Given the description of an element on the screen output the (x, y) to click on. 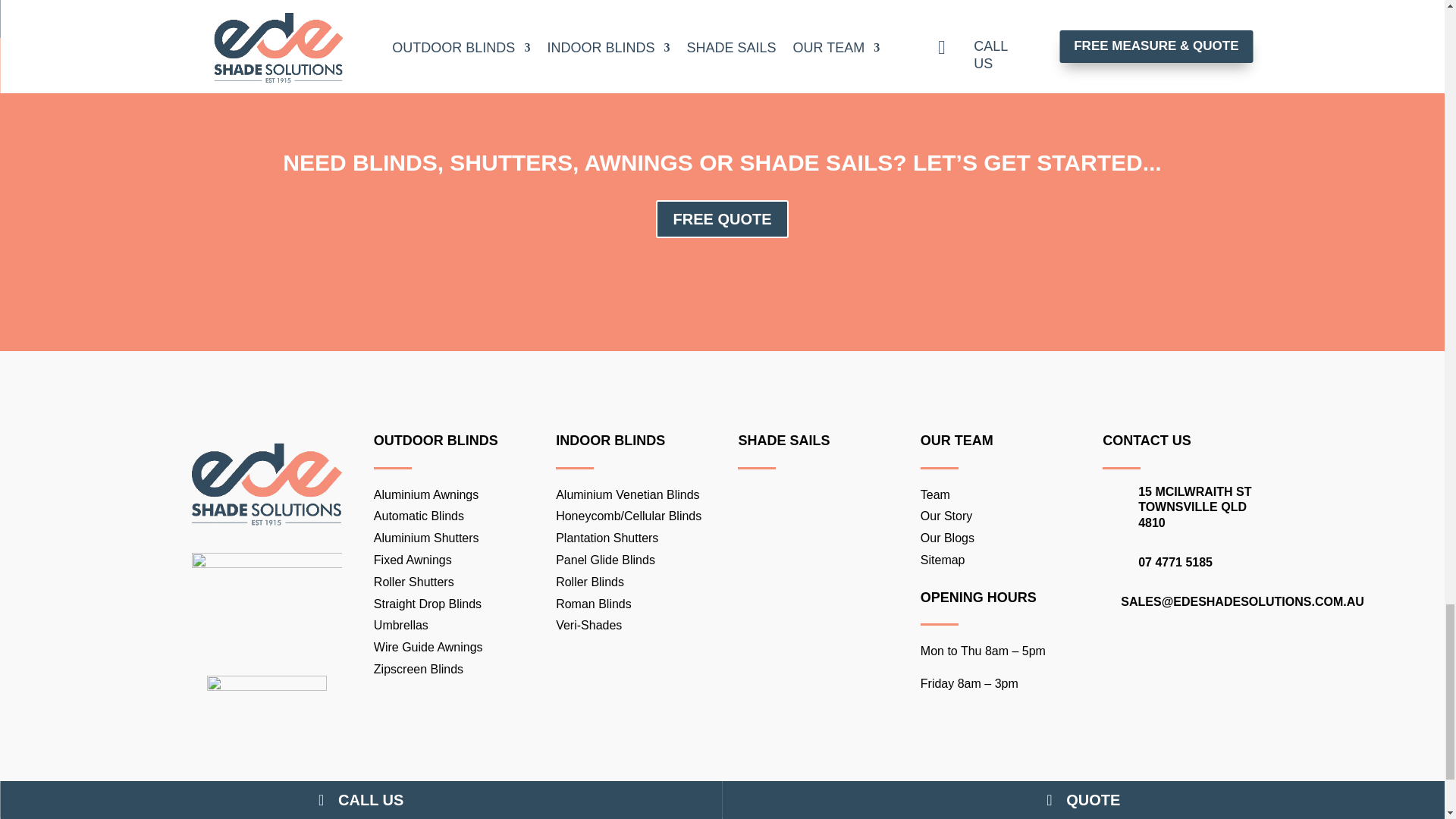
Plantation Shutters (607, 537)
Fixed Awnings (412, 559)
Zipscreen Blinds (418, 668)
Umbrellas (401, 625)
logos (265, 563)
FREE QUOTE (721, 218)
Aluminium Awnings (426, 494)
Automatic Blinds (419, 515)
Wire Guide Awnings (428, 646)
Roller Blinds (590, 581)
